Given the description of an element on the screen output the (x, y) to click on. 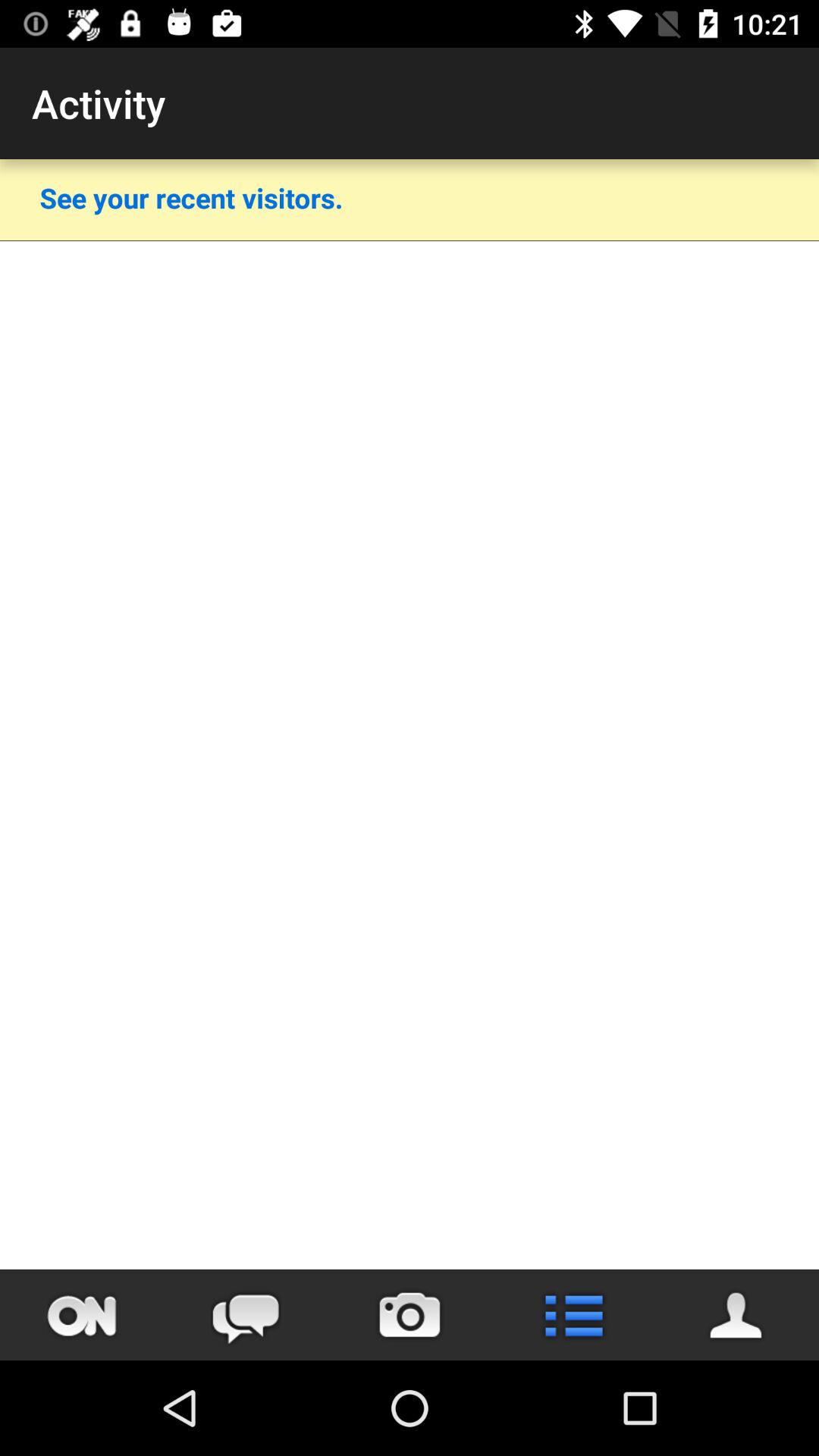
menu (573, 1315)
